Given the description of an element on the screen output the (x, y) to click on. 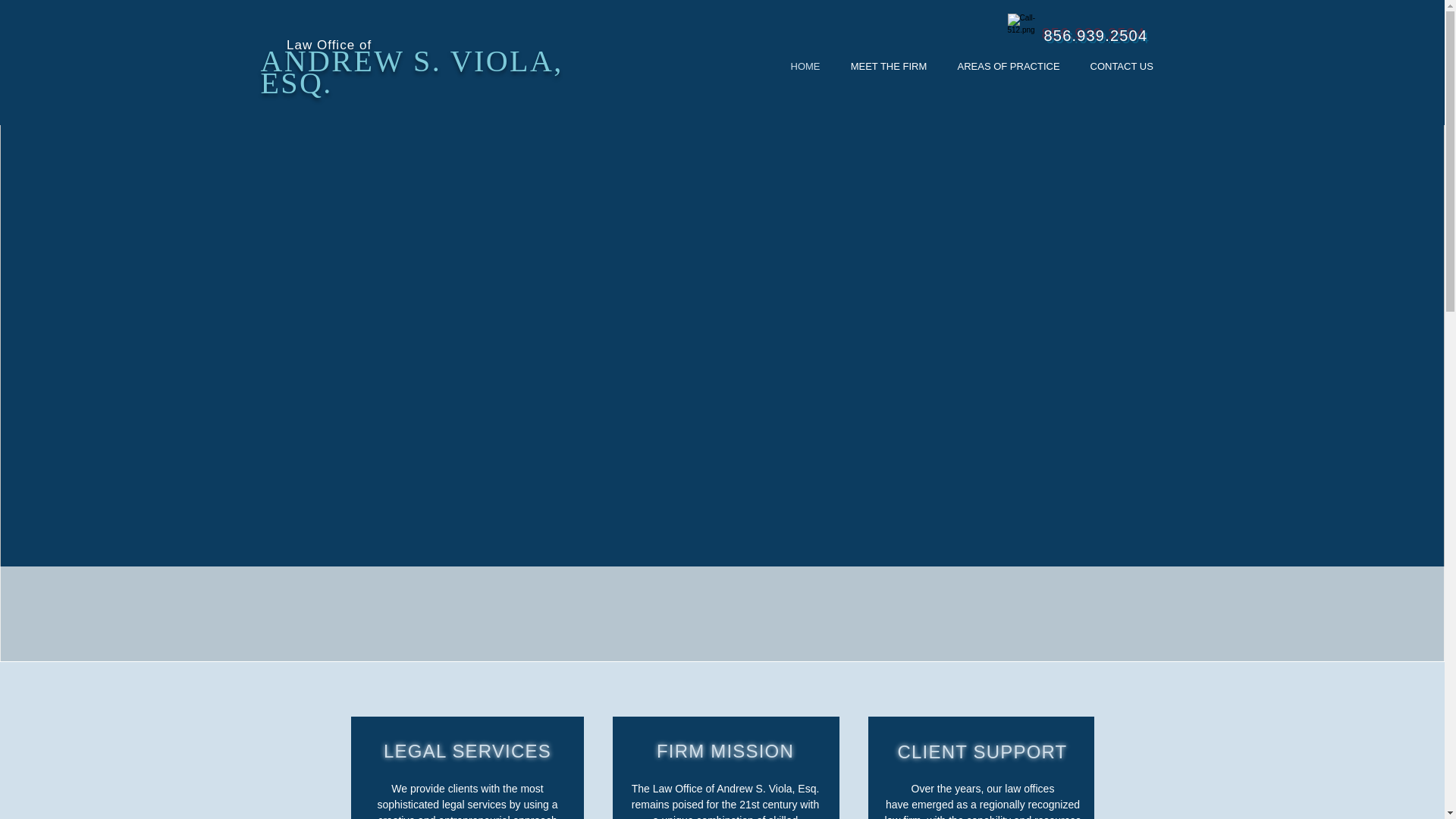
MEET THE FIRM (888, 66)
      Law Office of (316, 44)
CONTACT US (1122, 66)
ANDREW S. VIOLA, ESQ. (411, 71)
AREAS OF PRACTICE (1008, 66)
HOME (804, 66)
